Given the description of an element on the screen output the (x, y) to click on. 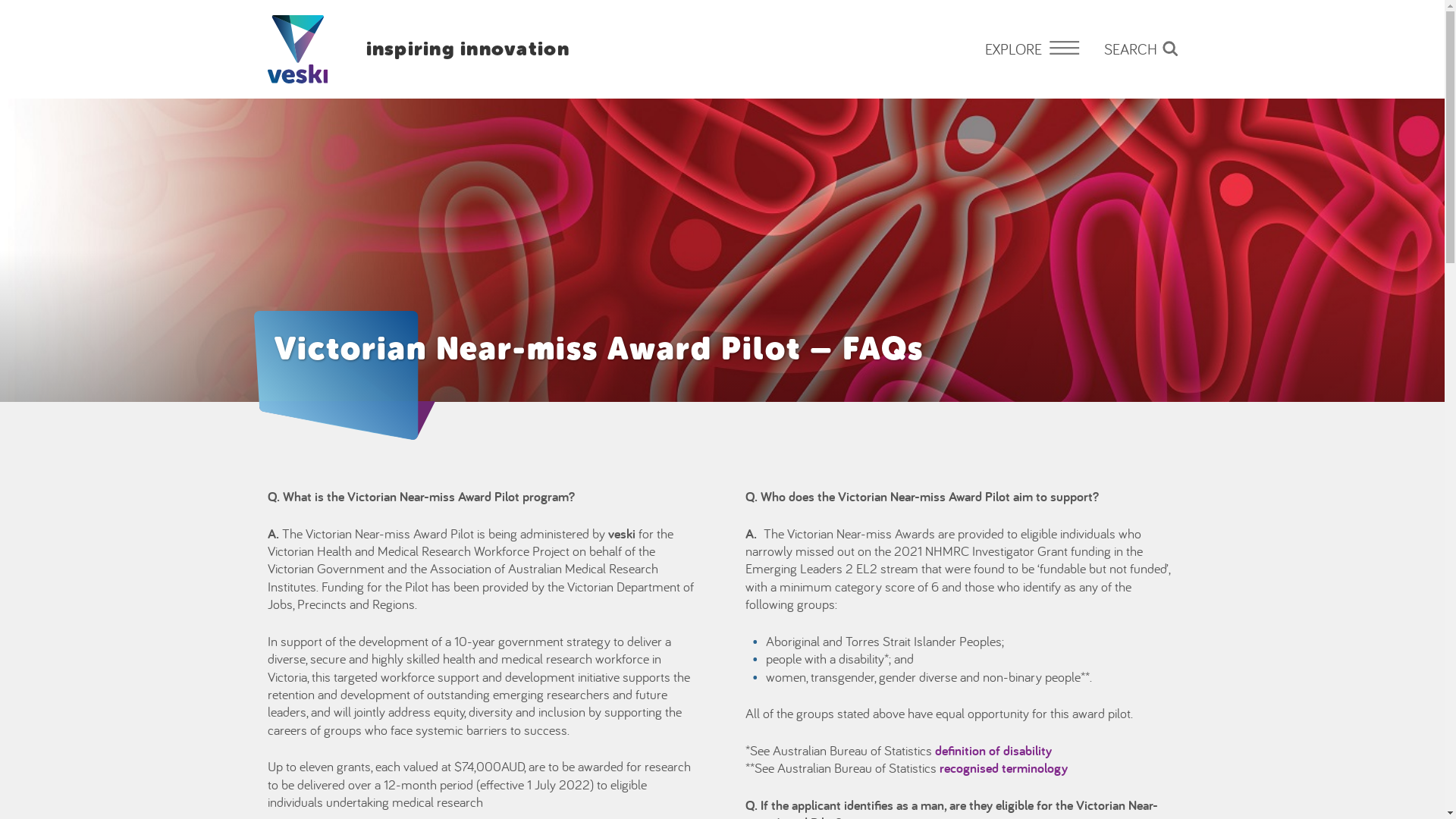
recognised terminology Element type: text (1002, 767)
SEARCH Element type: text (1140, 48)
definition of disability Element type: text (992, 750)
Link to homepage Element type: hover (296, 49)
EXPLORE Element type: text (1033, 48)
